Given the description of an element on the screen output the (x, y) to click on. 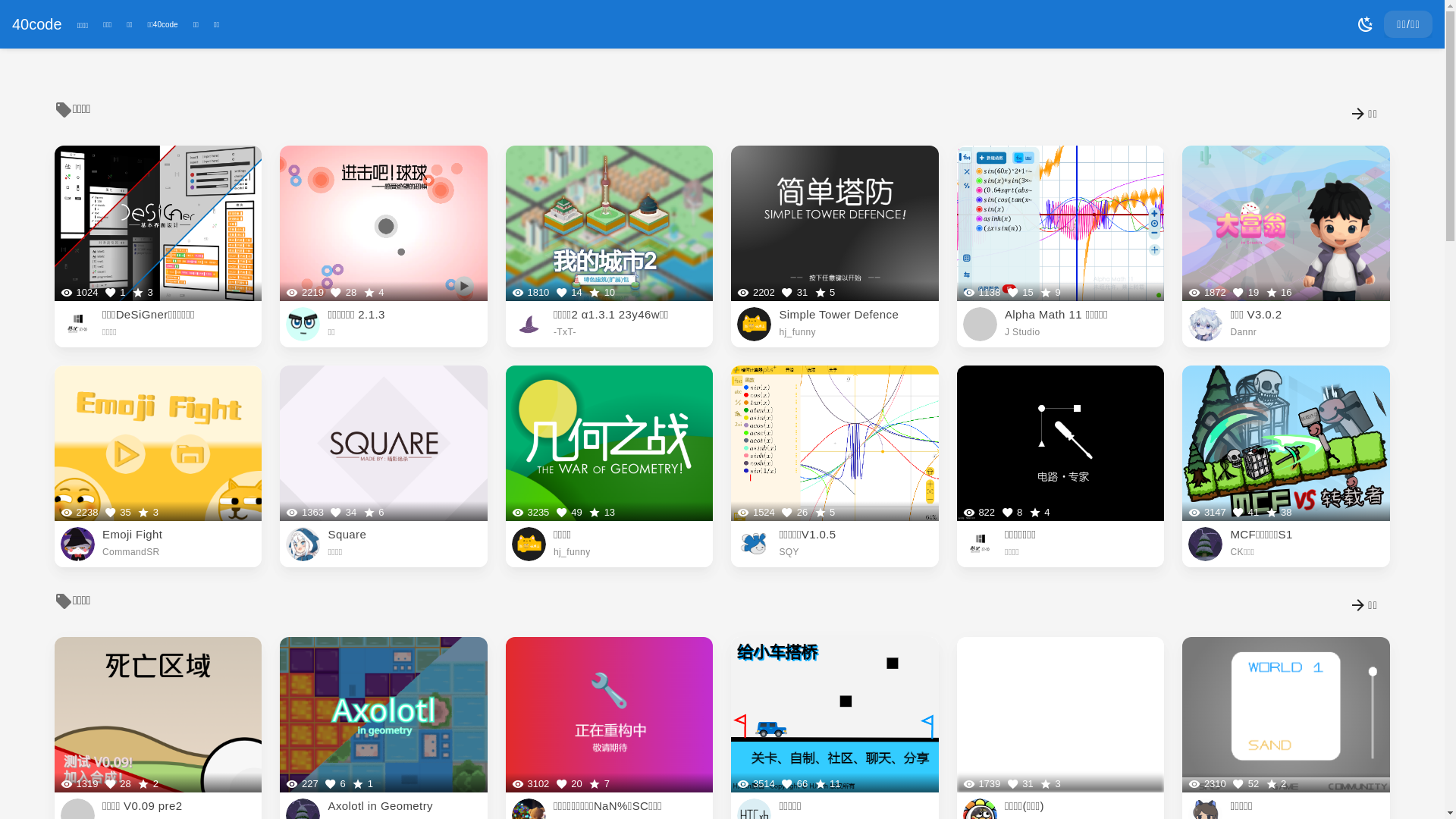
40code Element type: text (37, 23)
2238
35
3
Emoji Fight
CommandSR Element type: text (157, 466)
2202
31
5
Simple Tower Defence
hj_funny Element type: text (834, 246)
